Given the description of an element on the screen output the (x, y) to click on. 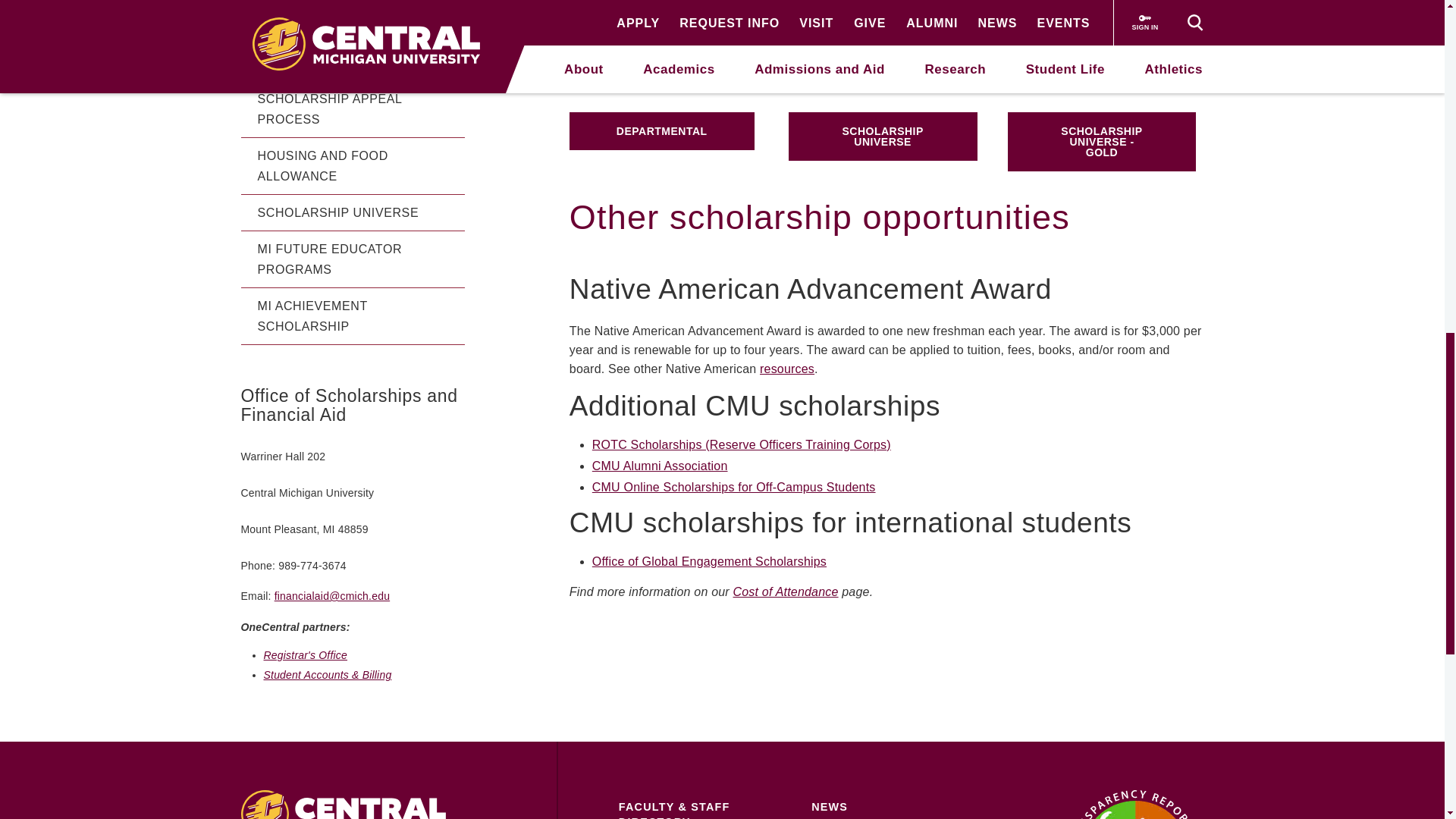
Scholarship Policies (352, 63)
Housing and Food Allowance (352, 166)
Scholarship Universe (352, 212)
MI Future Educator Programs (352, 259)
MI Achievement Scholarship (352, 316)
Scholarship Appeal Process (352, 109)
Additional Scholarship Information (352, 4)
Scholarship Search Tips (352, 26)
